Given the description of an element on the screen output the (x, y) to click on. 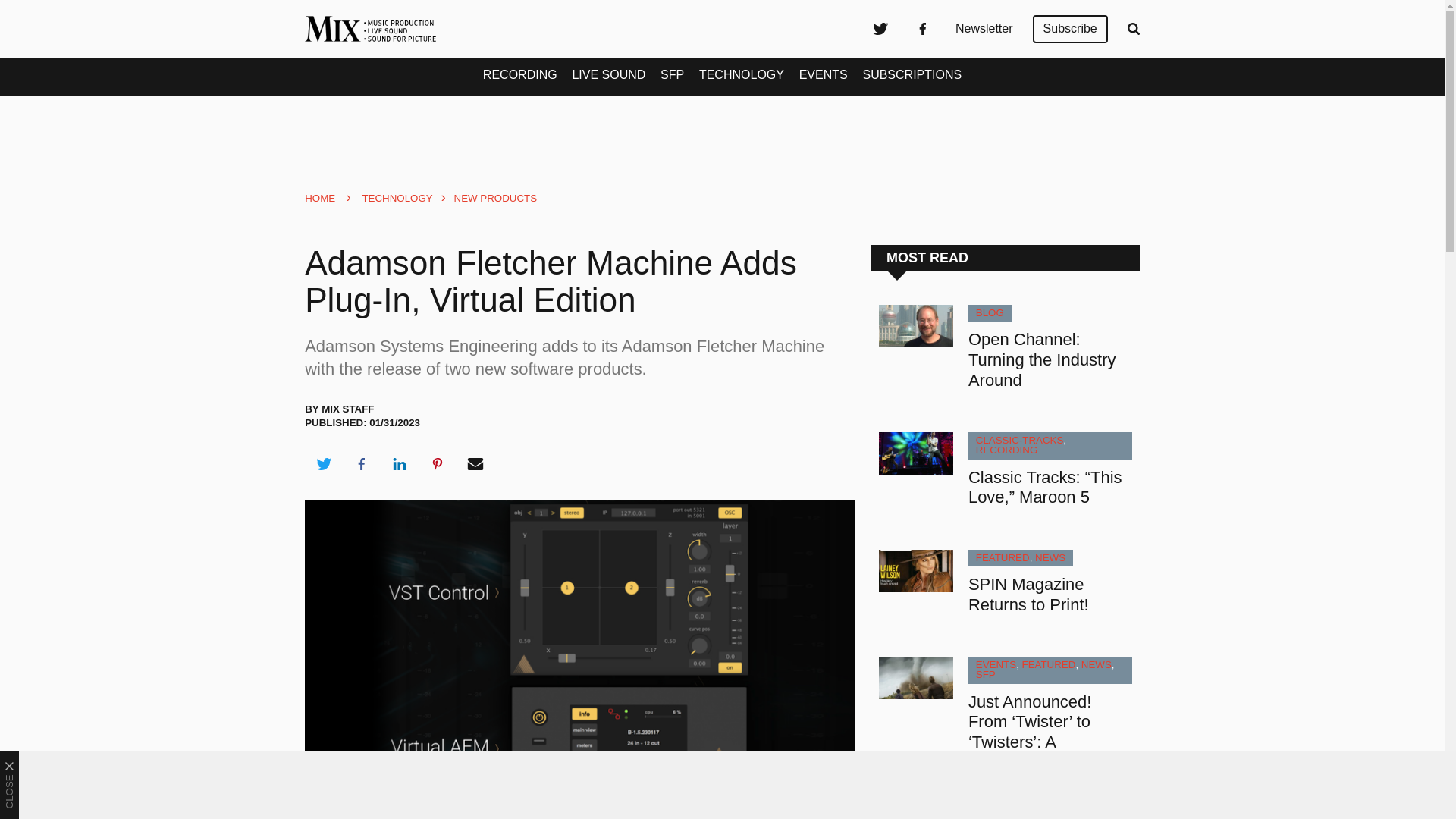
Share on Twitter (323, 464)
Share on Pinterest (438, 464)
Share via Email (476, 464)
Share on LinkedIn (399, 464)
Share on Facebook (361, 464)
